Given the description of an element on the screen output the (x, y) to click on. 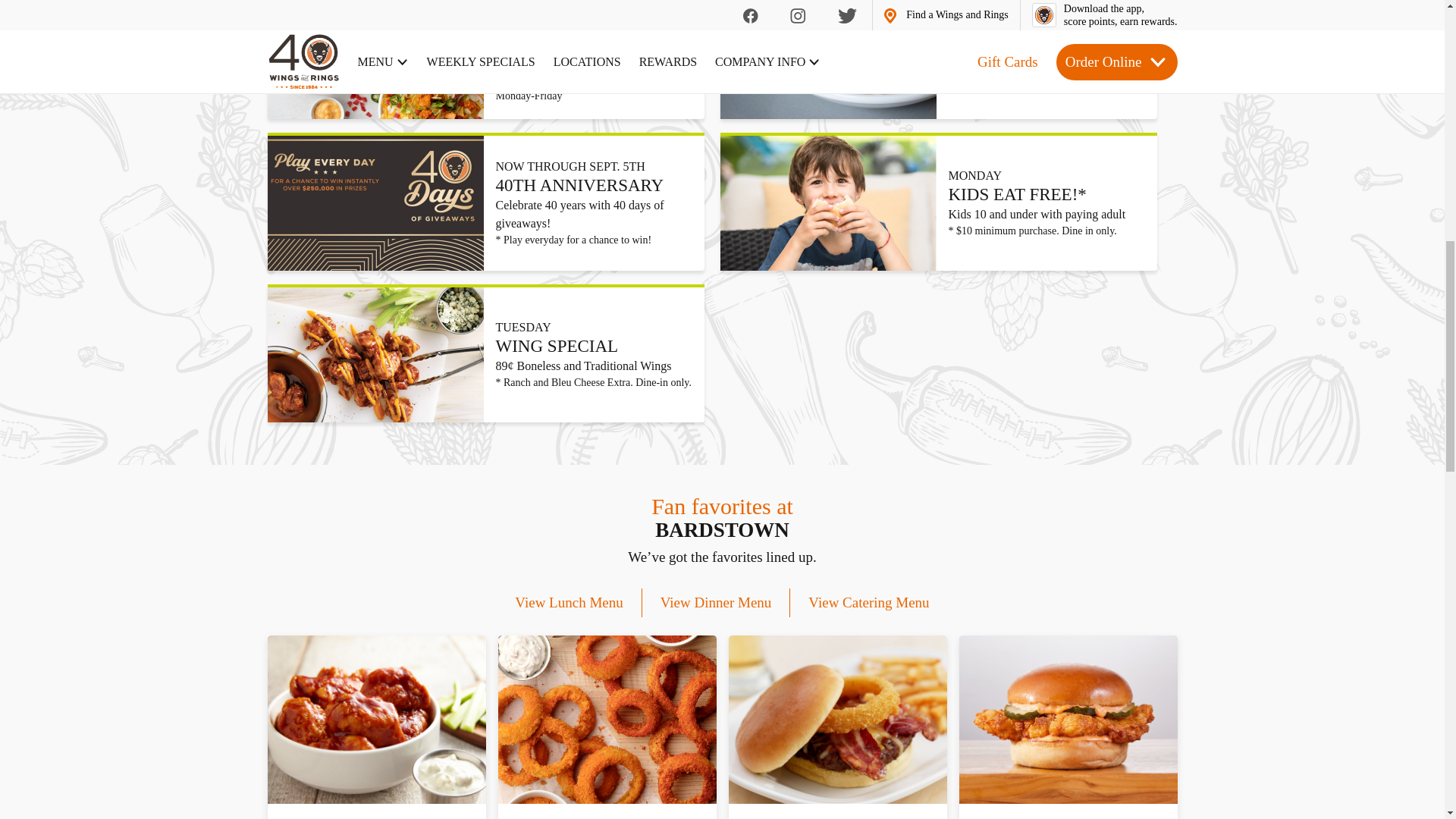
Wing Special (374, 354)
Chicken Wraps (828, 59)
WINGS (375, 719)
40th Anniversary (374, 203)
BURGERS (837, 719)
RINGS (606, 719)
SANDWICHES (1067, 719)
